Given the description of an element on the screen output the (x, y) to click on. 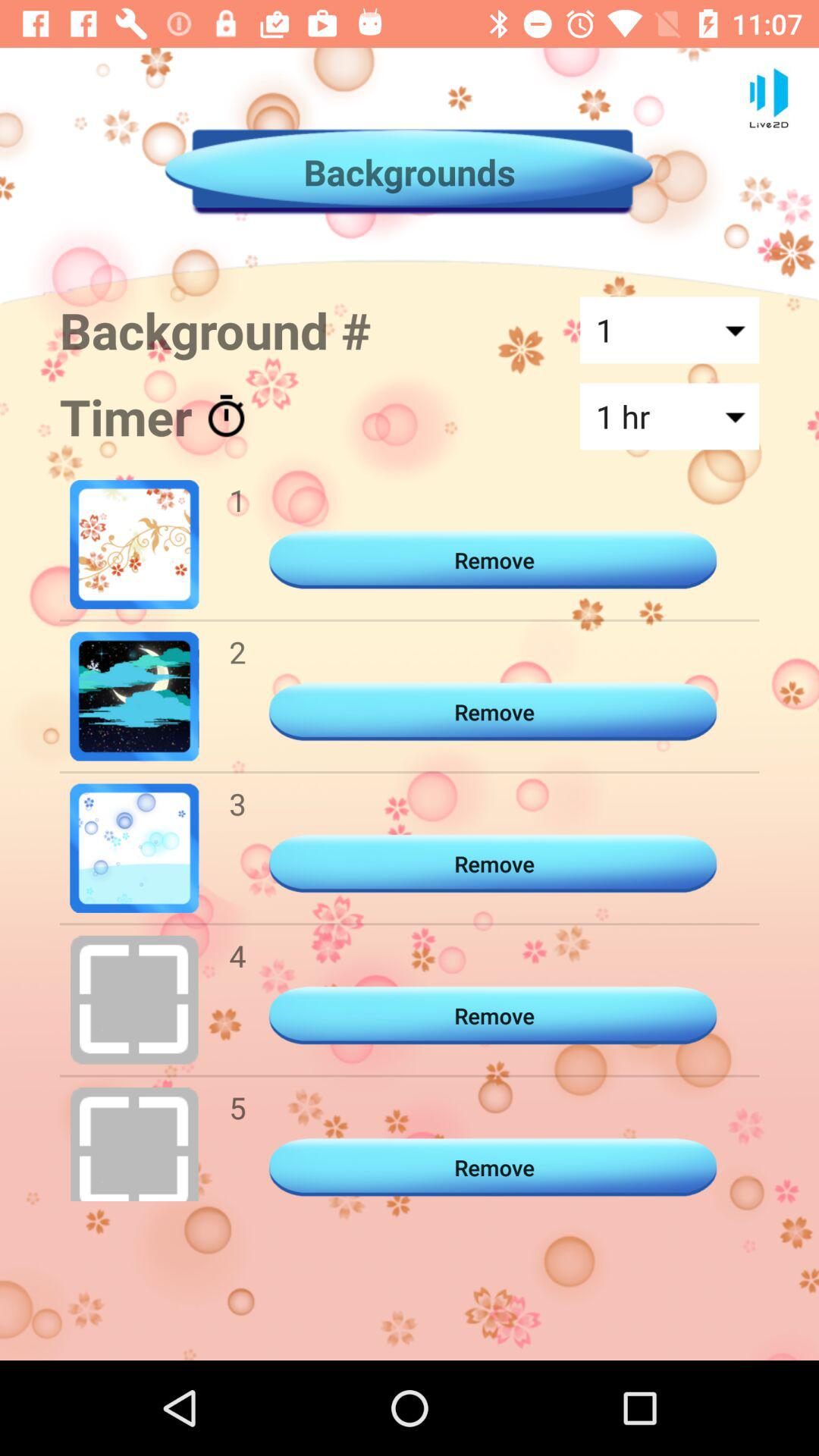
launch item to the left of the remove item (237, 803)
